Given the description of an element on the screen output the (x, y) to click on. 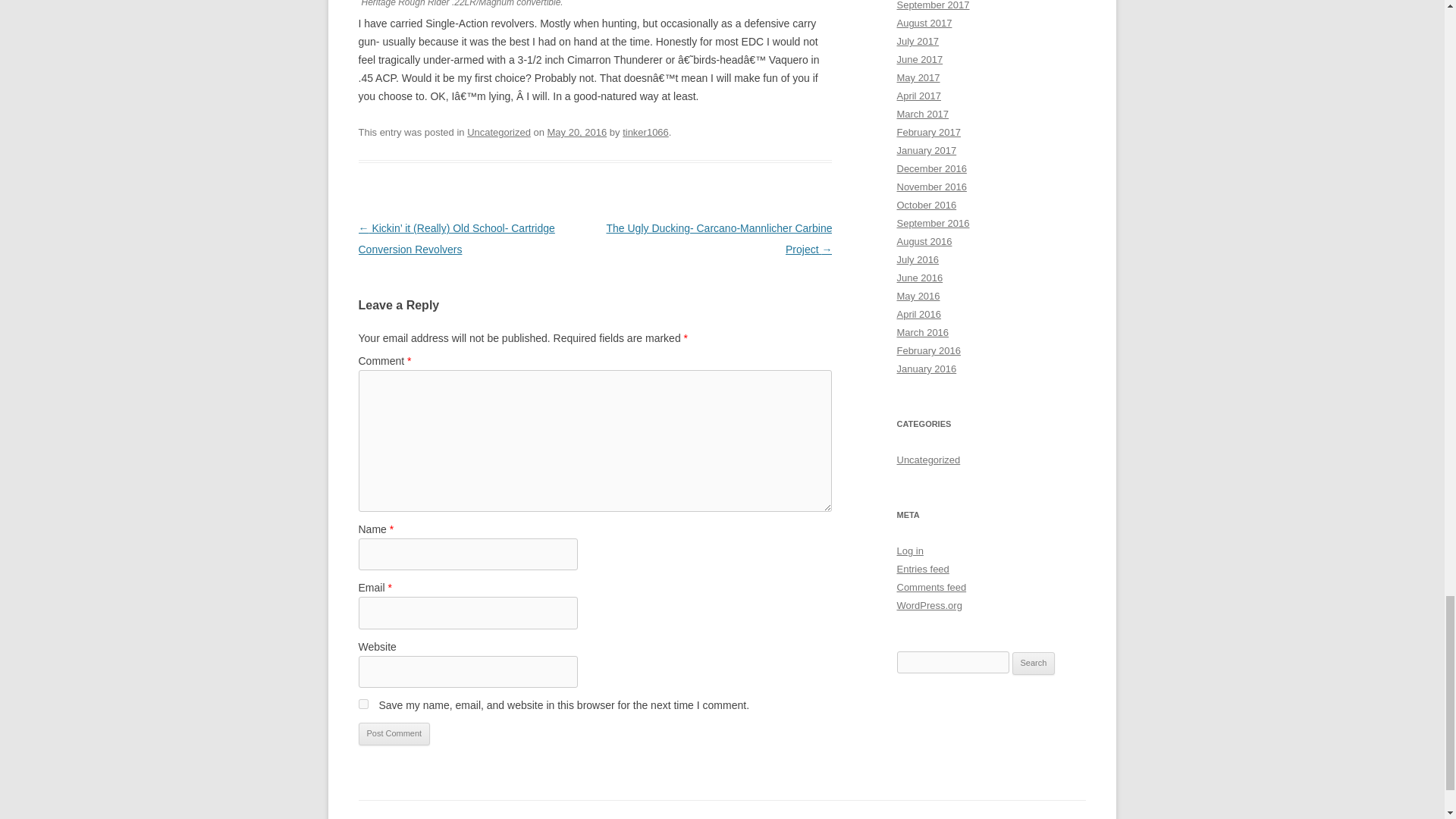
yes (363, 704)
Search (1033, 662)
Post Comment (393, 733)
May 20, 2016 (577, 132)
Uncategorized (499, 132)
tinker1066 (645, 132)
View all posts by tinker1066 (645, 132)
Post Comment (393, 733)
5:05 pm (577, 132)
